Given the description of an element on the screen output the (x, y) to click on. 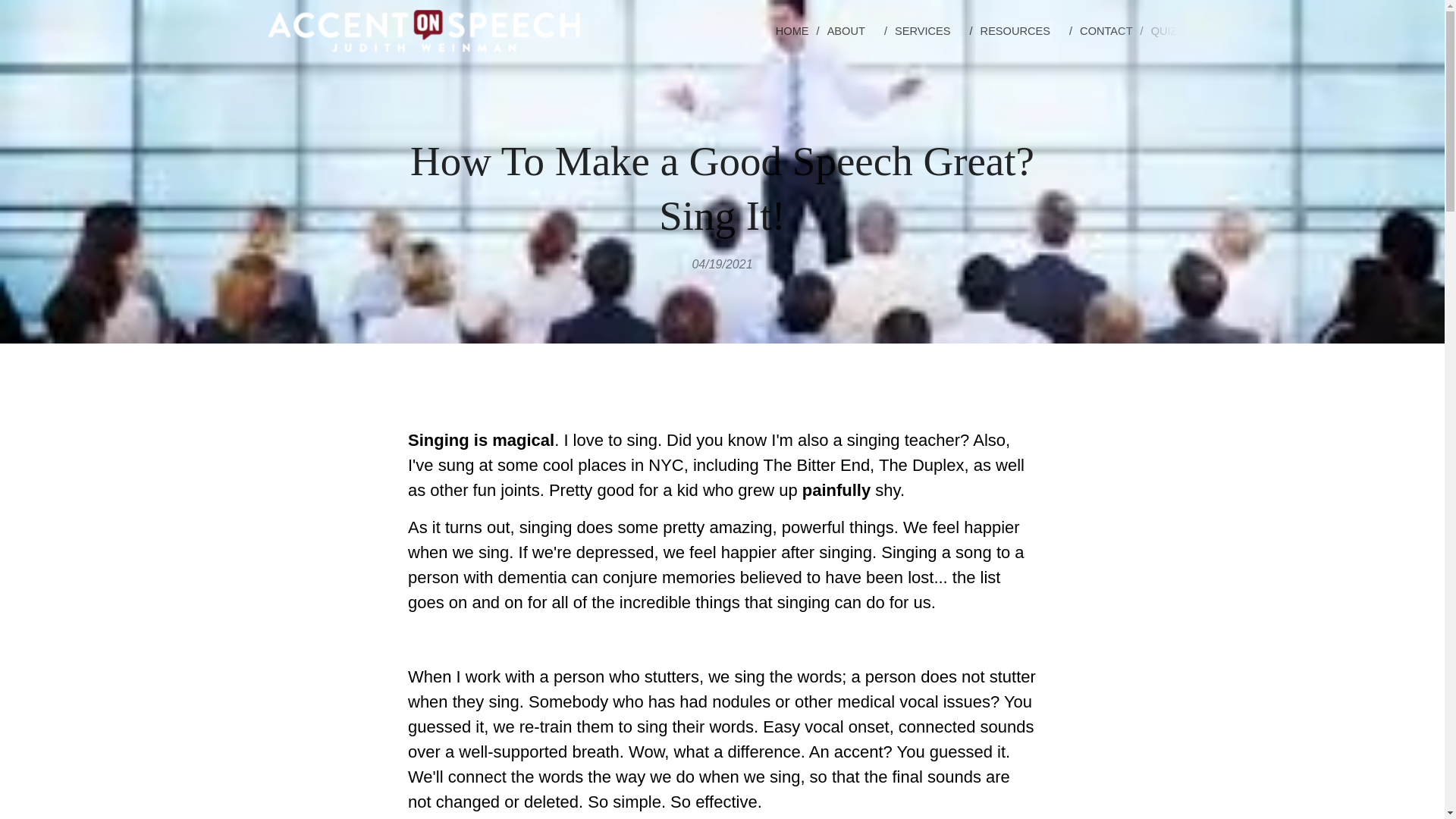
CONTACT (1106, 30)
ABOUT (852, 30)
SERVICES (929, 30)
RESOURCES (1022, 30)
HOME (795, 30)
QUIZ (1159, 30)
